Given the description of an element on the screen output the (x, y) to click on. 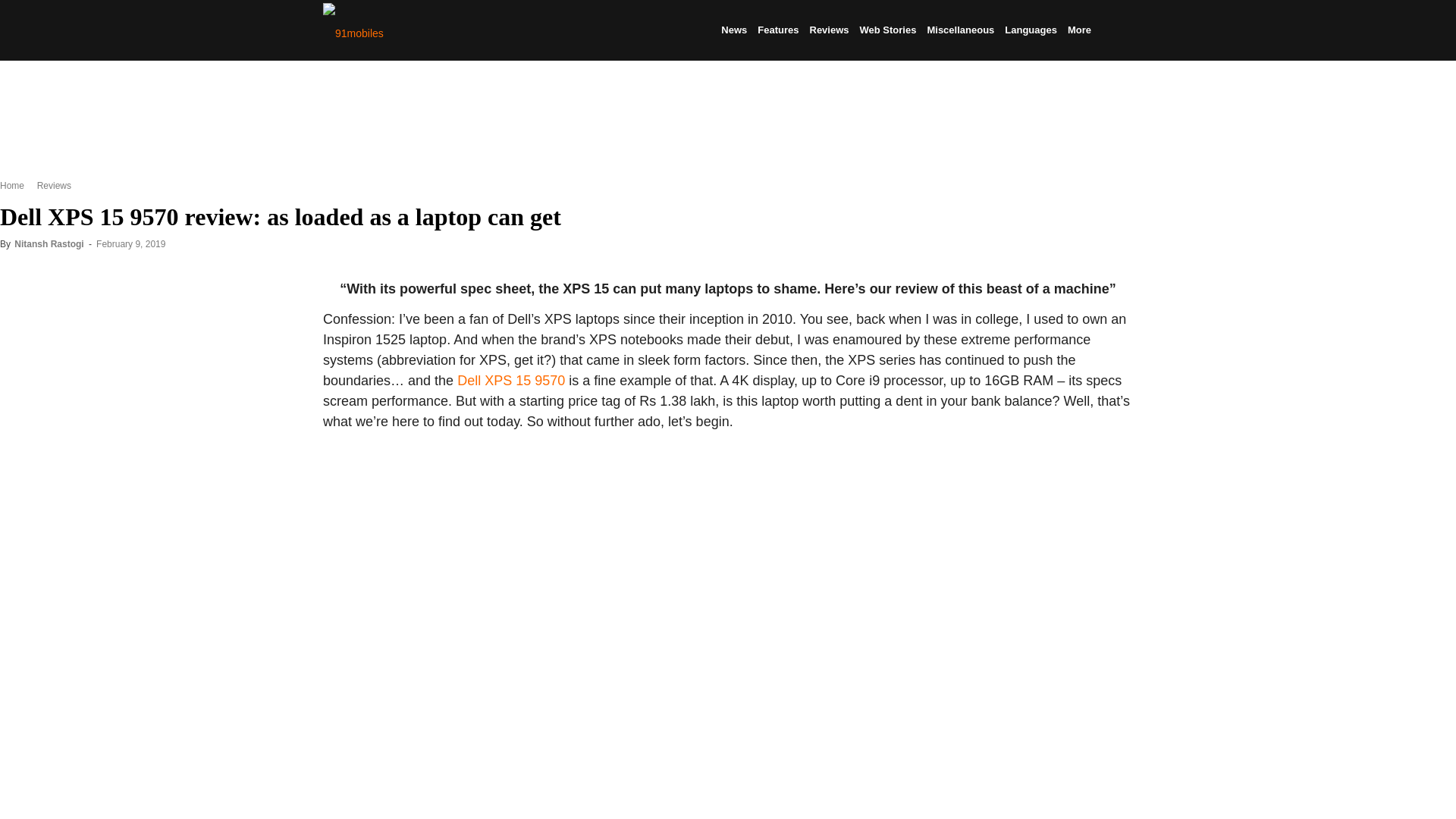
Search (1091, 102)
91mobiles (353, 30)
View all posts in Reviews (52, 185)
